Given the description of an element on the screen output the (x, y) to click on. 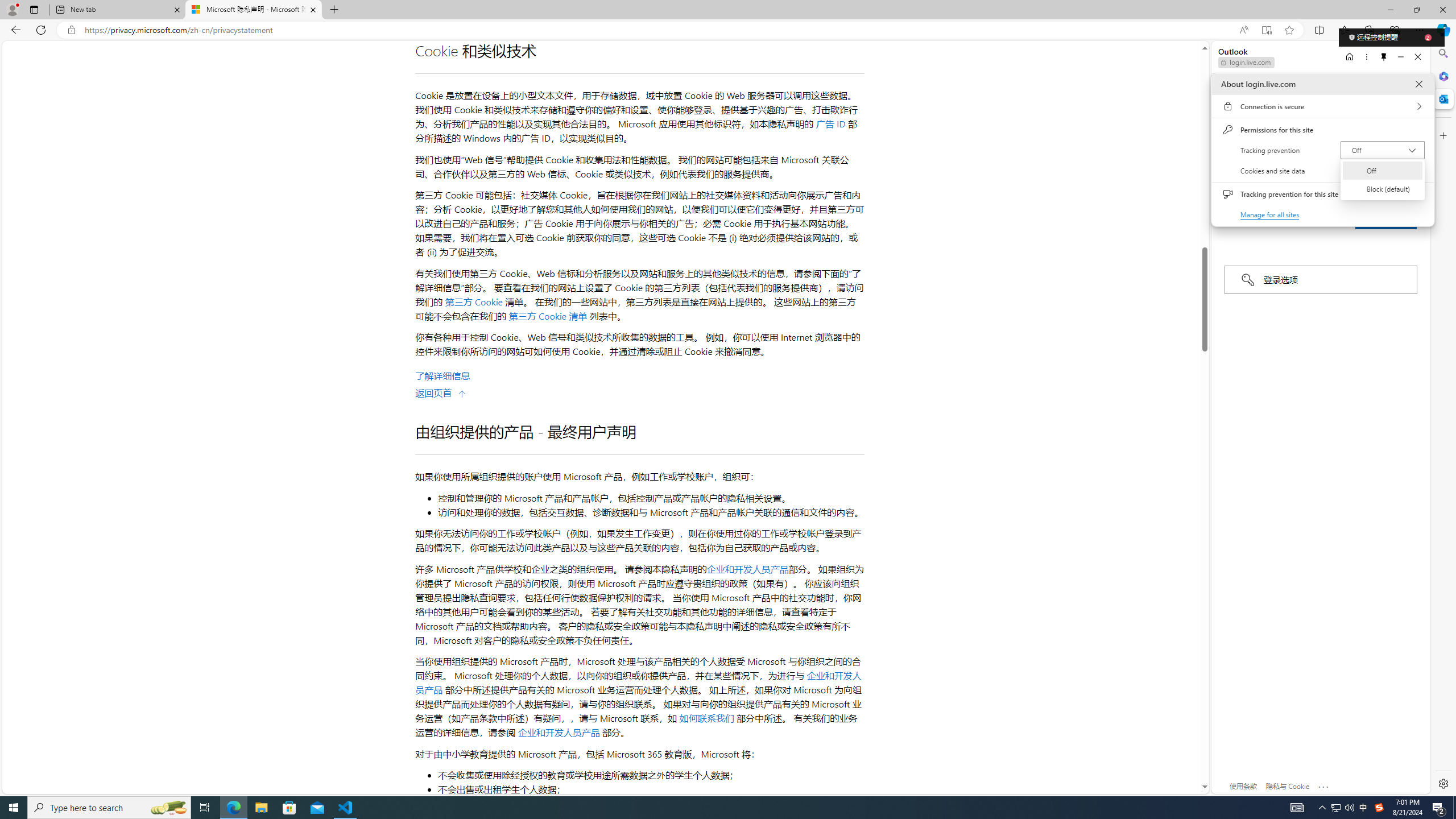
Tray Input Indicator - Chinese (Simplified, China) (1378, 807)
